Given the description of an element on the screen output the (x, y) to click on. 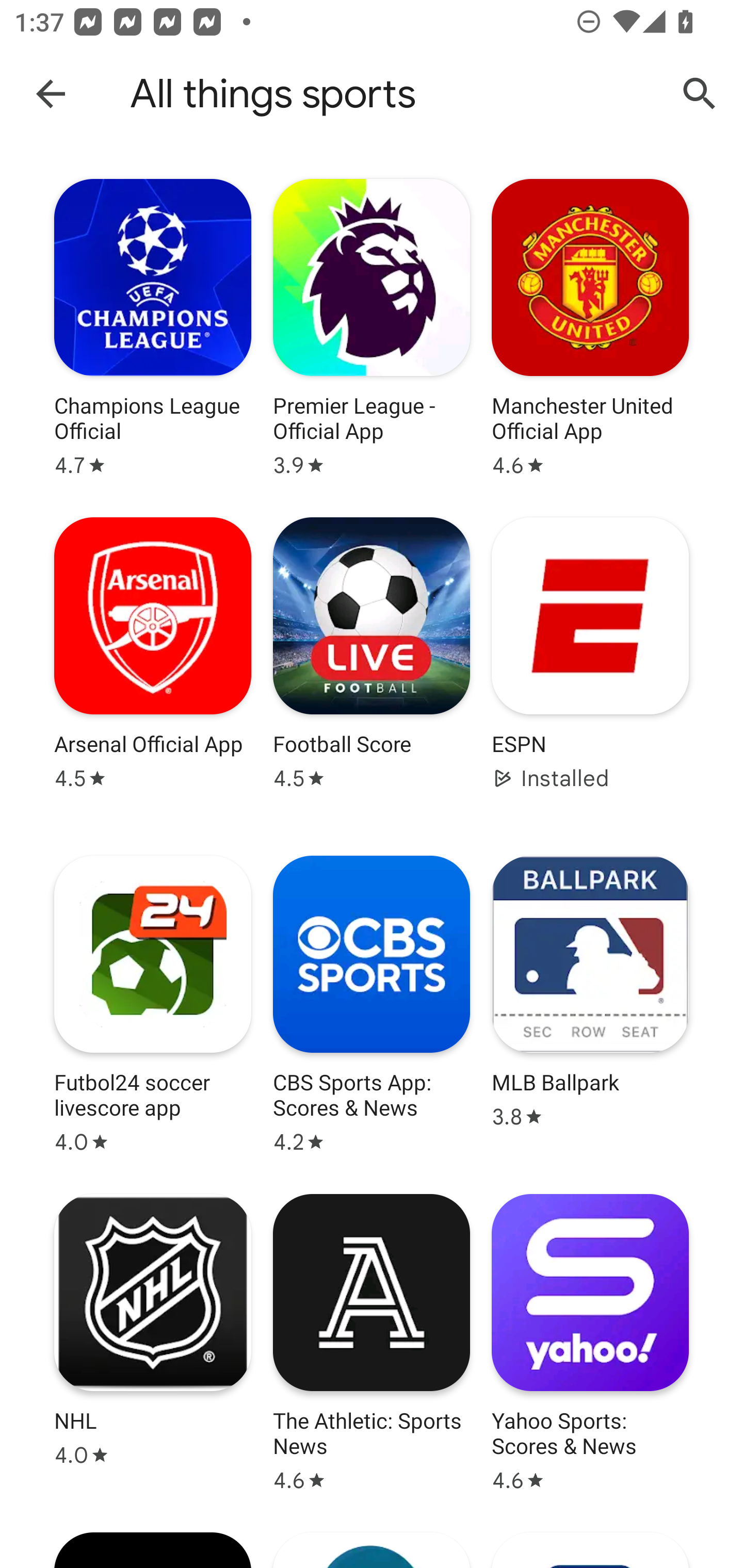
Navigate up (50, 92)
Search Google Play (699, 93)
App: Champions League Official
Star rating: 4.7


 (152, 328)
App: Arsenal Official App
Star rating: 4.5


 (152, 666)
App: Football Score
Star rating: 4.5


 (371, 666)
App: ESPN
Installed

 (589, 666)
App: MLB Ballpark
Star rating: 3.8


 (589, 1003)
App: NHL
Star rating: 4.0


 (152, 1342)
App: The Athletic: Sports News
Star rating: 4.6


 (371, 1342)
